Given the description of an element on the screen output the (x, y) to click on. 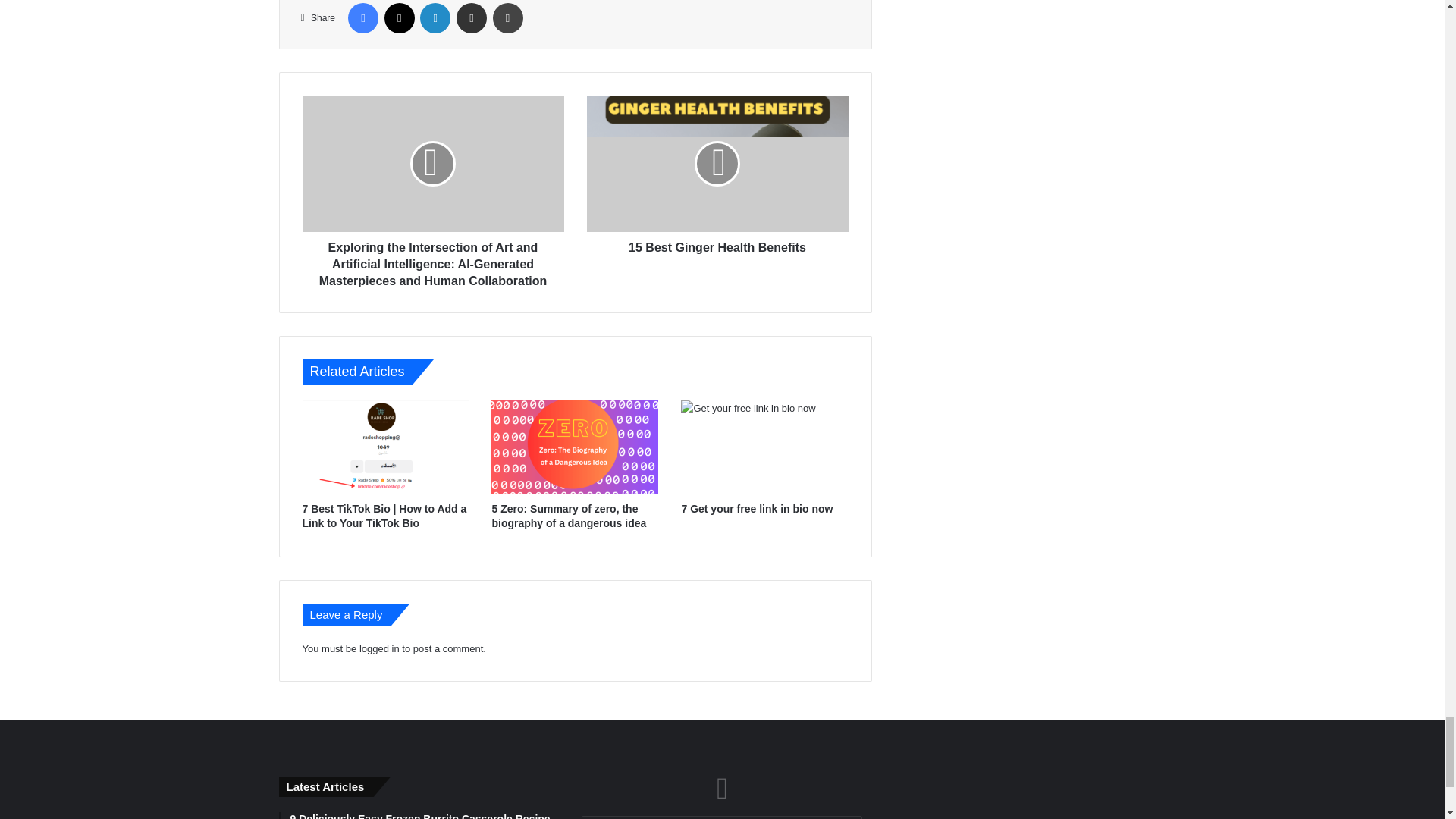
LinkedIn (434, 18)
X (399, 18)
Facebook (362, 18)
